Given the description of an element on the screen output the (x, y) to click on. 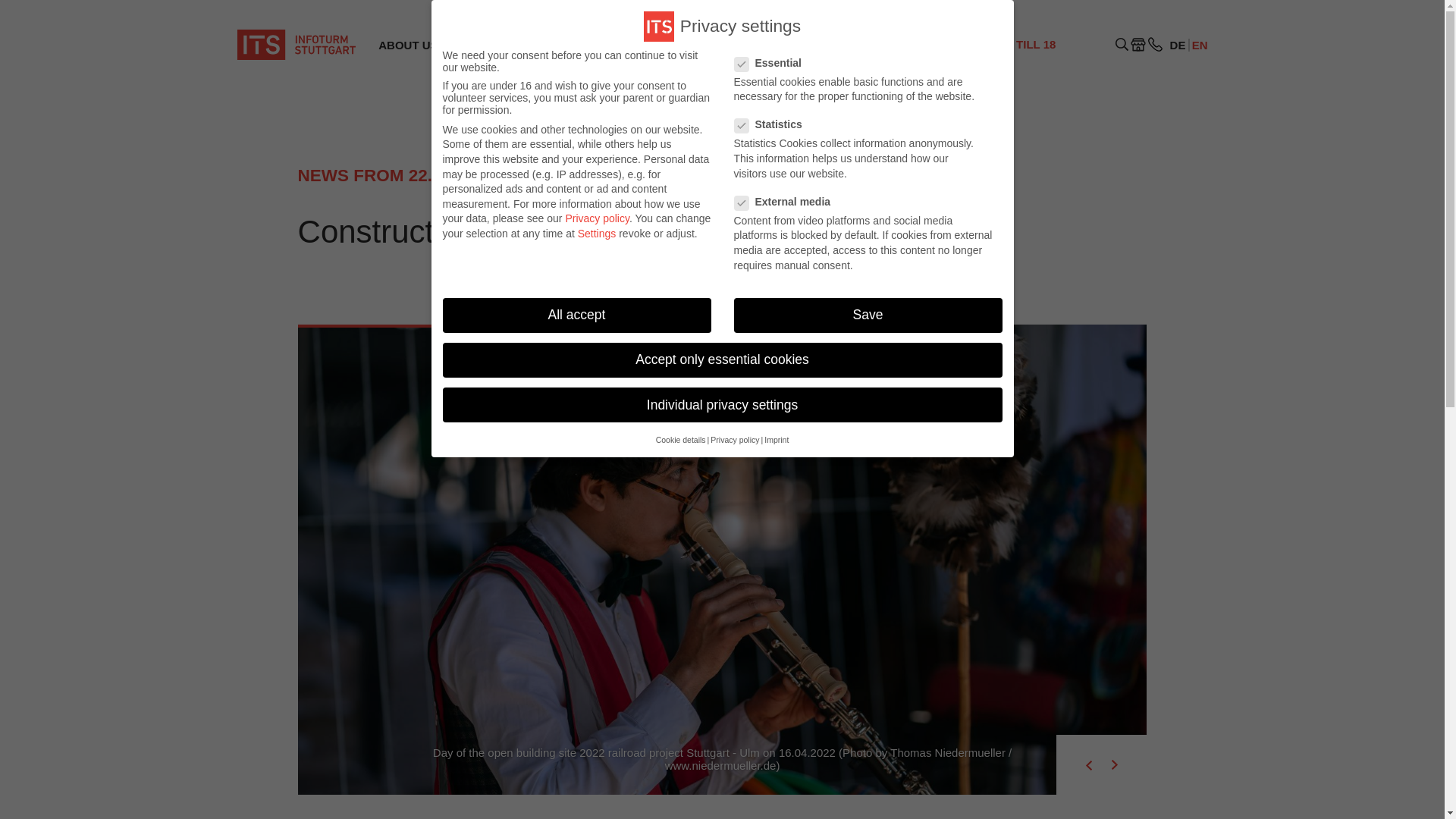
Chronology (663, 95)
Association (407, 95)
OUR OFFER (517, 45)
ABOUT US (407, 45)
News (835, 95)
Exhibition (509, 95)
RAIL PROJECT (1018, 52)
